Given the description of an element on the screen output the (x, y) to click on. 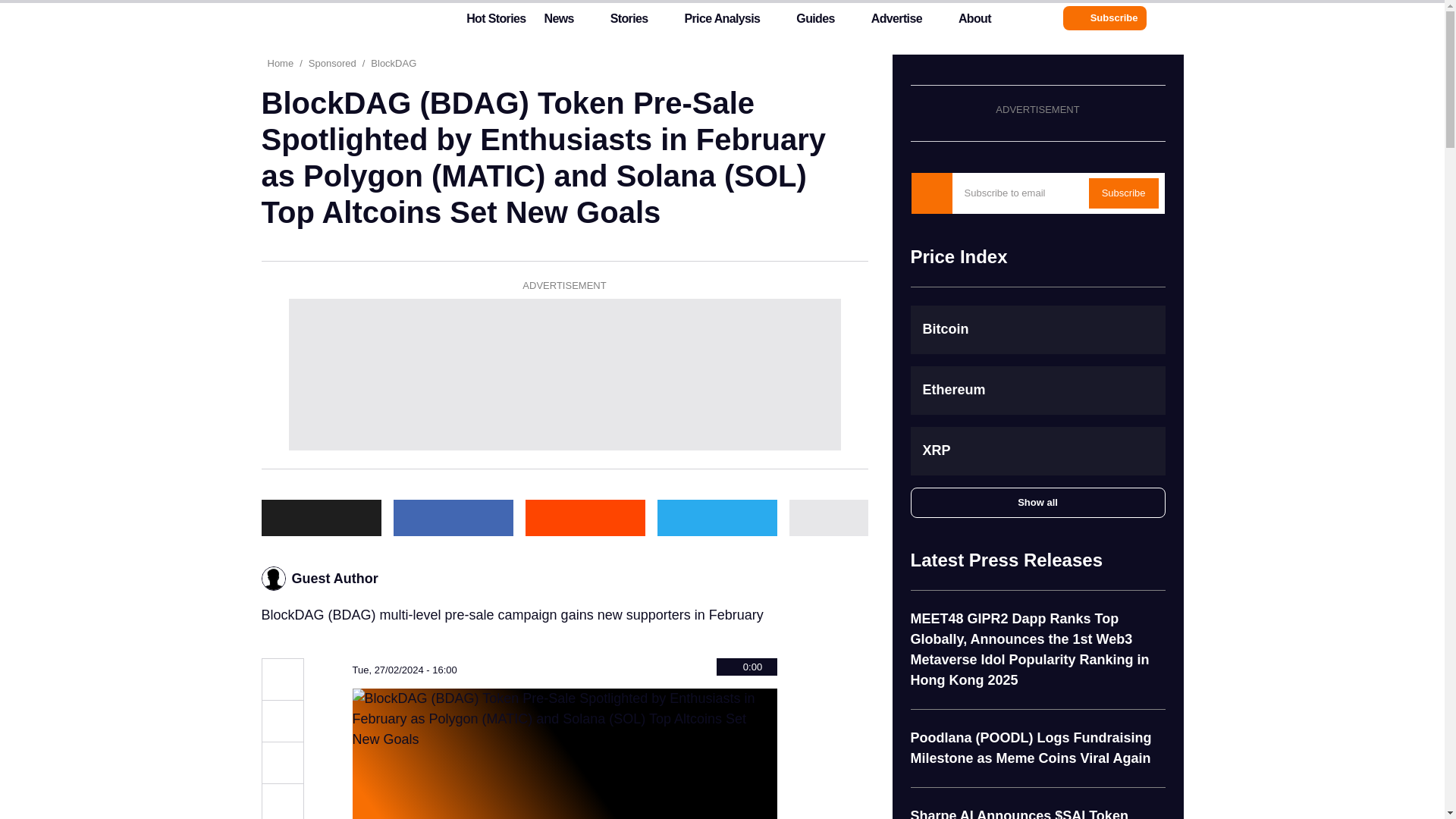
Share to Reddit (584, 517)
Hot Stories (486, 22)
News (558, 22)
Share to Telegram (716, 517)
Share to Facebook (452, 517)
Share to X (281, 721)
Stories (628, 22)
U.Today logo (331, 17)
Share to Facebook (281, 762)
Share to Reddit (281, 800)
Share to X (320, 517)
